Given the description of an element on the screen output the (x, y) to click on. 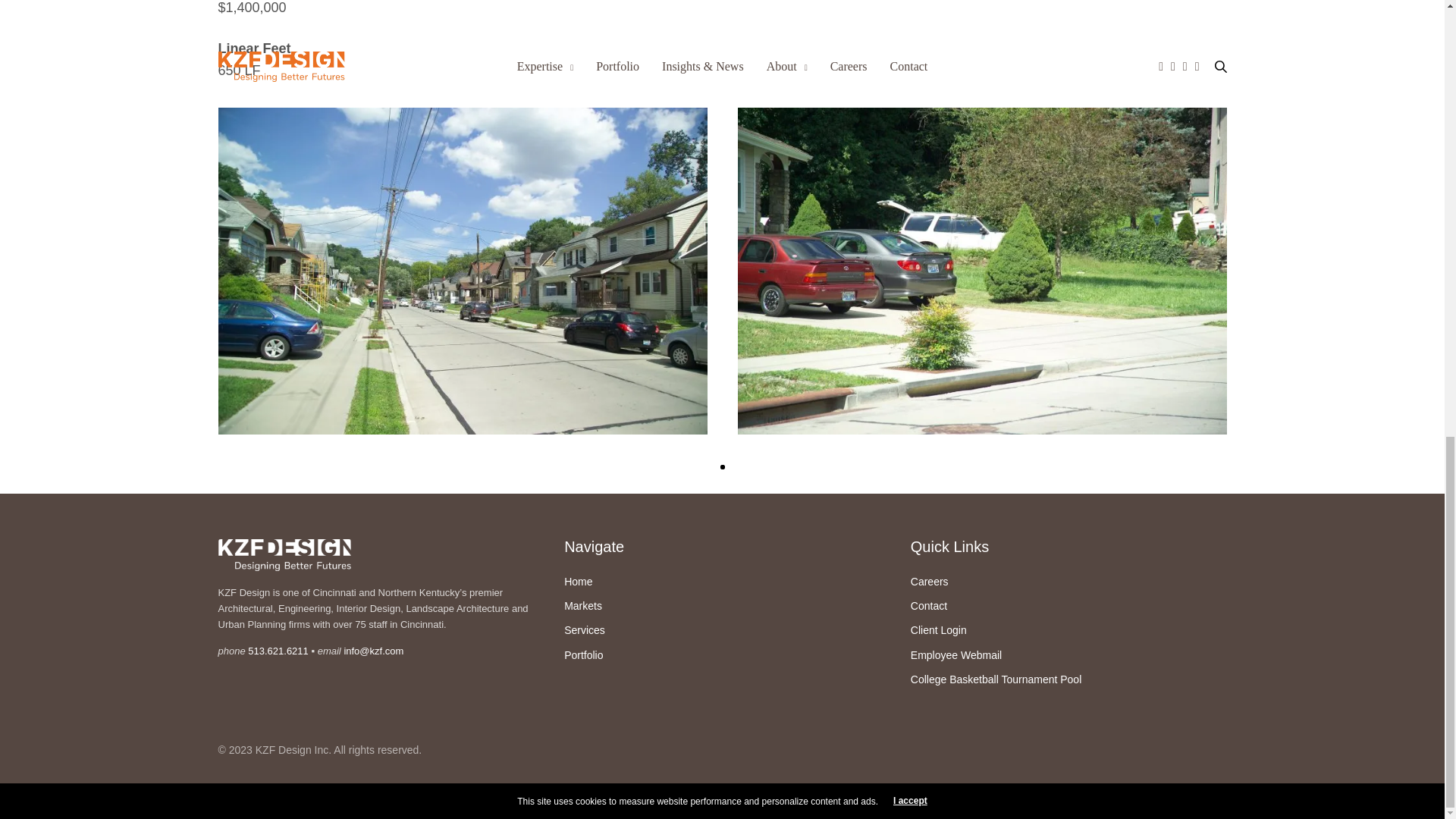
Contact (929, 605)
Services (584, 630)
Markets (583, 605)
Portfolio (583, 654)
513.621.6211 (277, 650)
Home (578, 581)
Careers (930, 581)
